Given the description of an element on the screen output the (x, y) to click on. 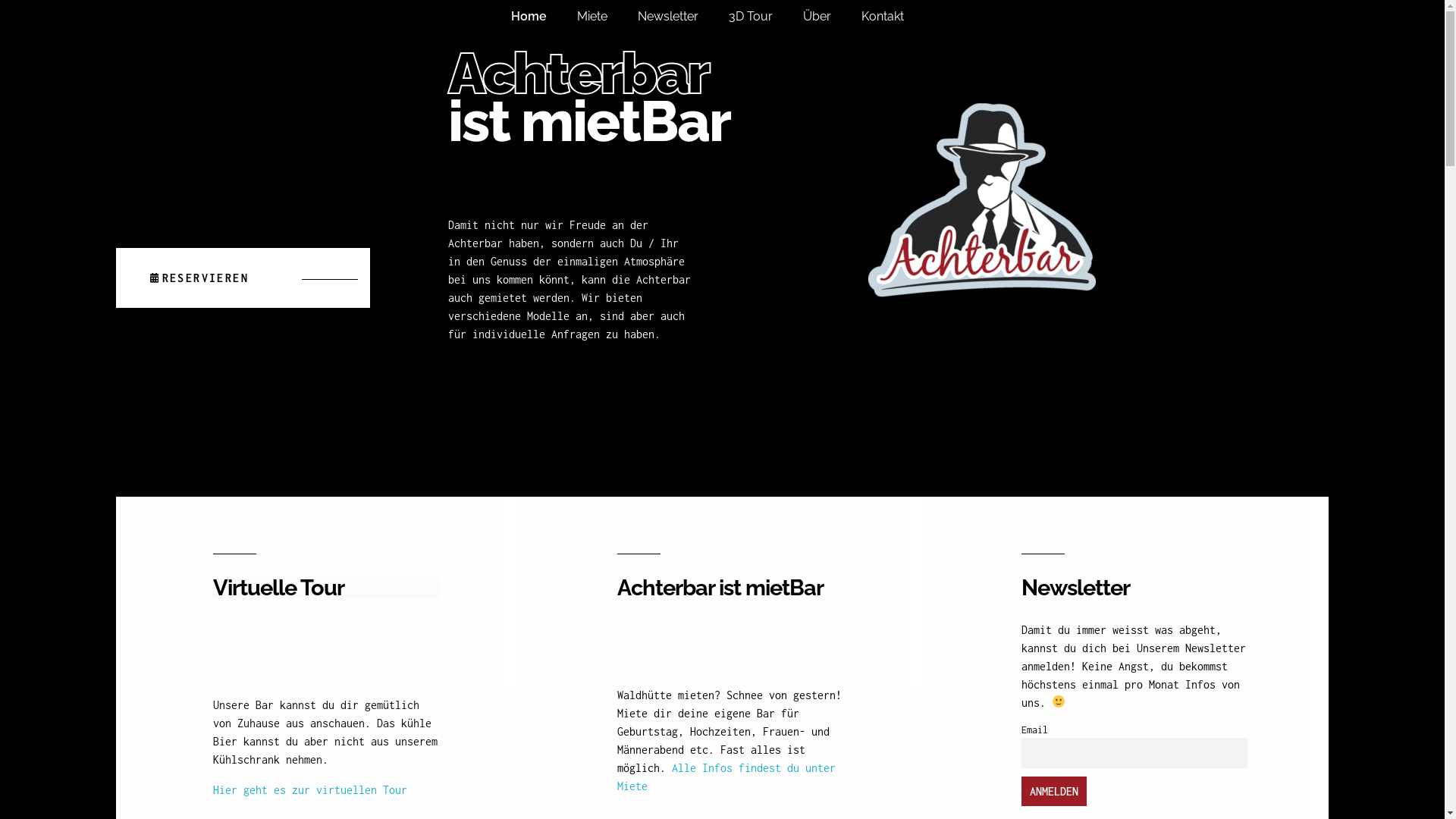
Kontakt Element type: text (897, 16)
Home Element type: text (544, 16)
Miete Element type: text (606, 16)
Virtuelle Tour Element type: text (325, 588)
Achterbar ist mietBar Element type: text (730, 588)
RESERVIEREN Element type: text (242, 277)
3D Tour Element type: text (765, 16)
Alle Infos findest du unter Miete Element type: text (726, 776)
Newsletter Element type: text (682, 16)
Hier geht es zur virtuellen Tour Element type: text (309, 789)
Anmelden Element type: text (1053, 791)
